Given the description of an element on the screen output the (x, y) to click on. 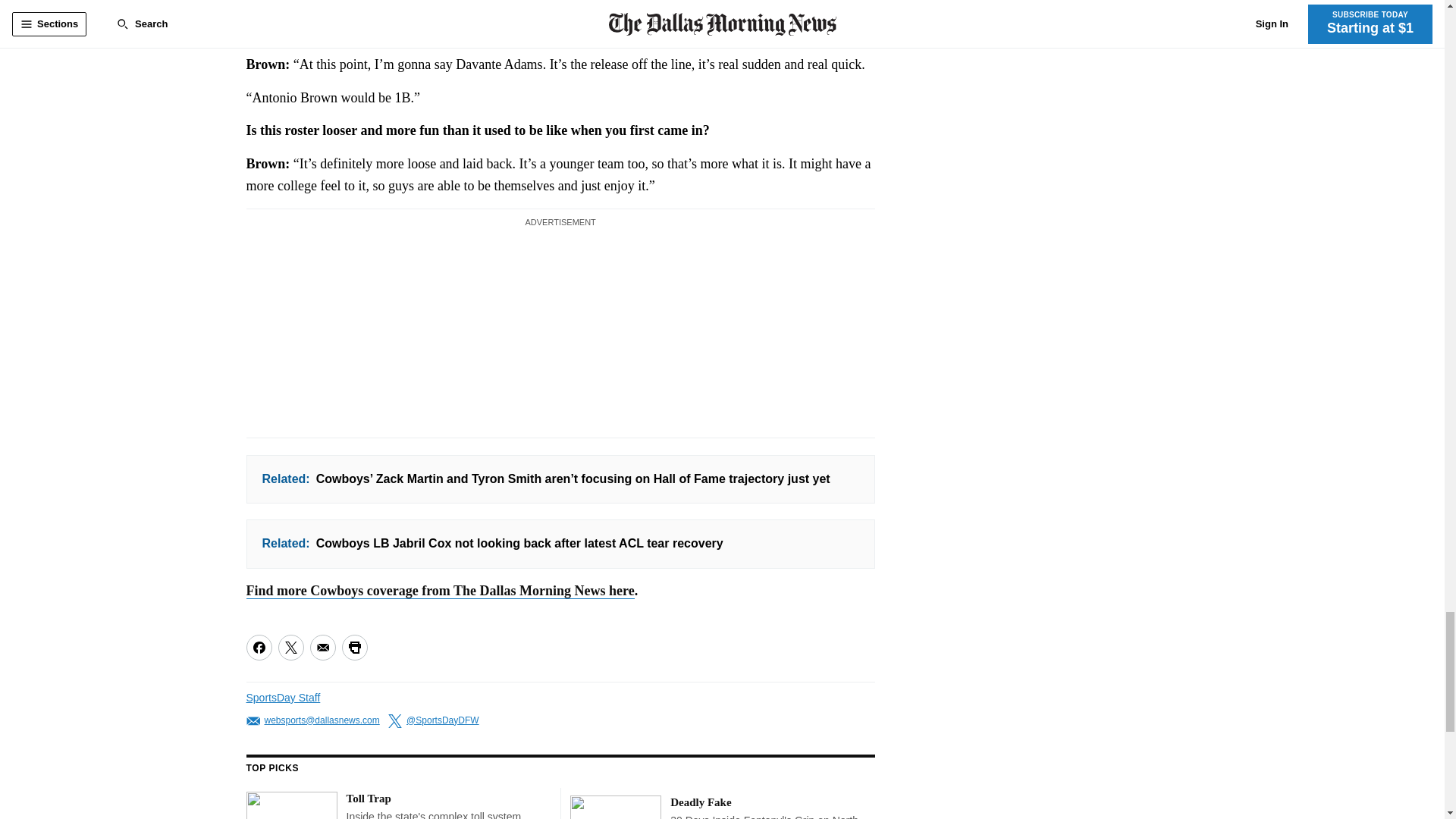
Share via Email (321, 647)
Print (353, 647)
Share on Twitter (290, 647)
Share on Facebook (258, 647)
